Given the description of an element on the screen output the (x, y) to click on. 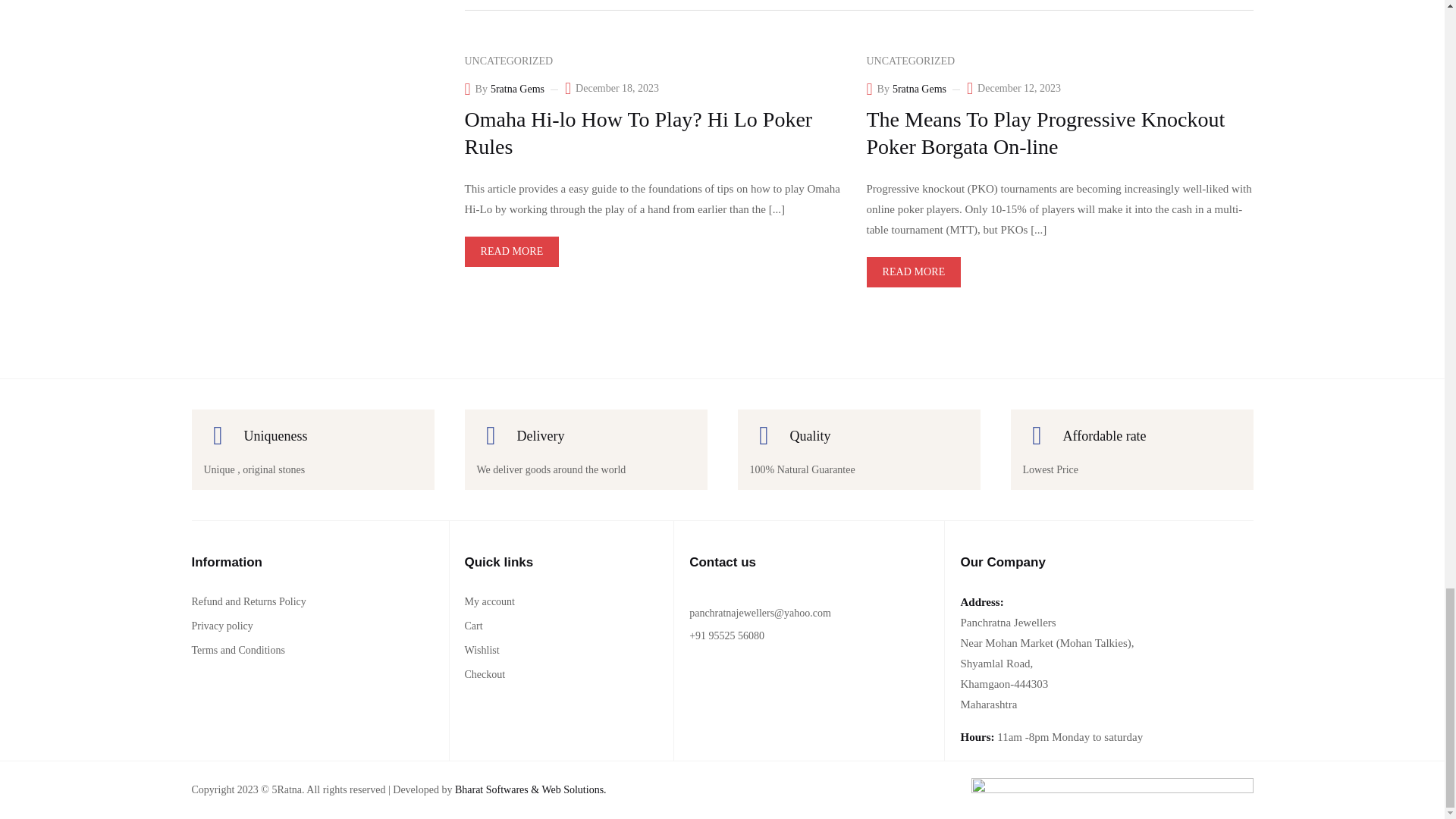
Posts by 5ratna gems (919, 89)
Posts by 5ratna gems (517, 89)
Read more (511, 251)
View all posts in Uncategorized (910, 61)
View all posts in Uncategorized (508, 61)
